Given the description of an element on the screen output the (x, y) to click on. 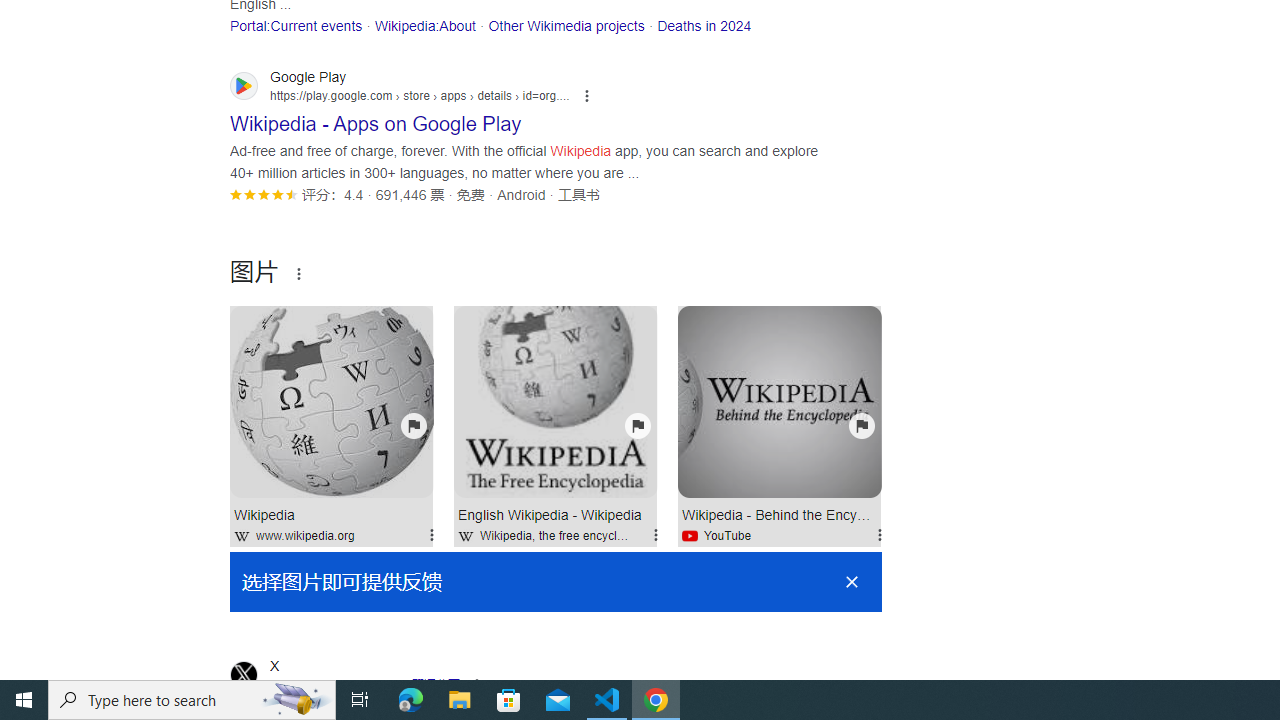
Wikipedia:About (424, 25)
Deaths in 2024 (704, 25)
Other Wikimedia projects (566, 25)
Portal:Current events (296, 25)
